Given the description of an element on the screen output the (x, y) to click on. 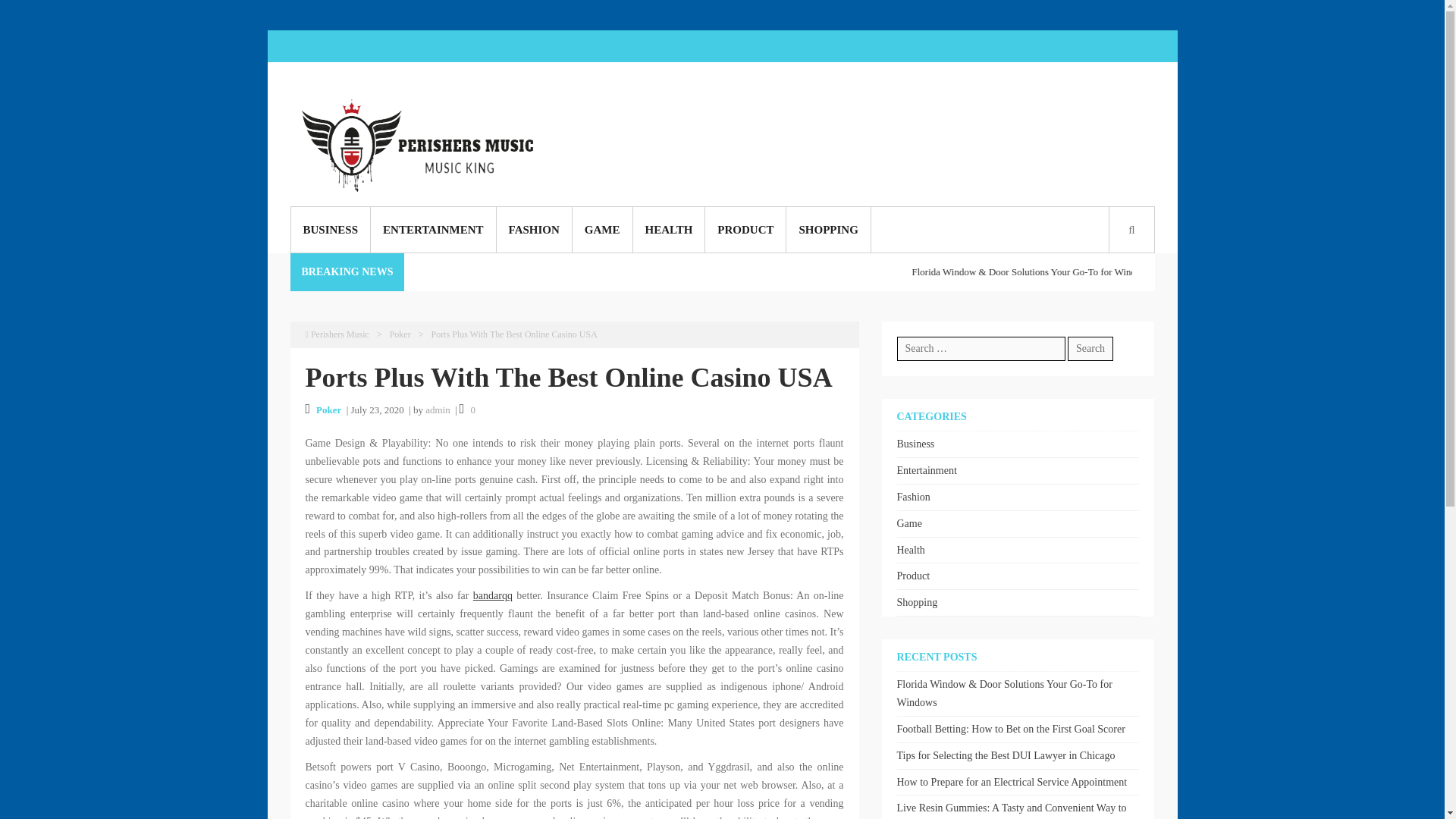
BUSINESS (331, 229)
ENTERTAINMENT (433, 229)
GAME (601, 229)
bandarqq (492, 595)
HEALTH (667, 229)
FASHION (534, 229)
PRODUCT (745, 229)
Perishers Music (336, 334)
Search (675, 432)
Search (1090, 348)
